Given the description of an element on the screen output the (x, y) to click on. 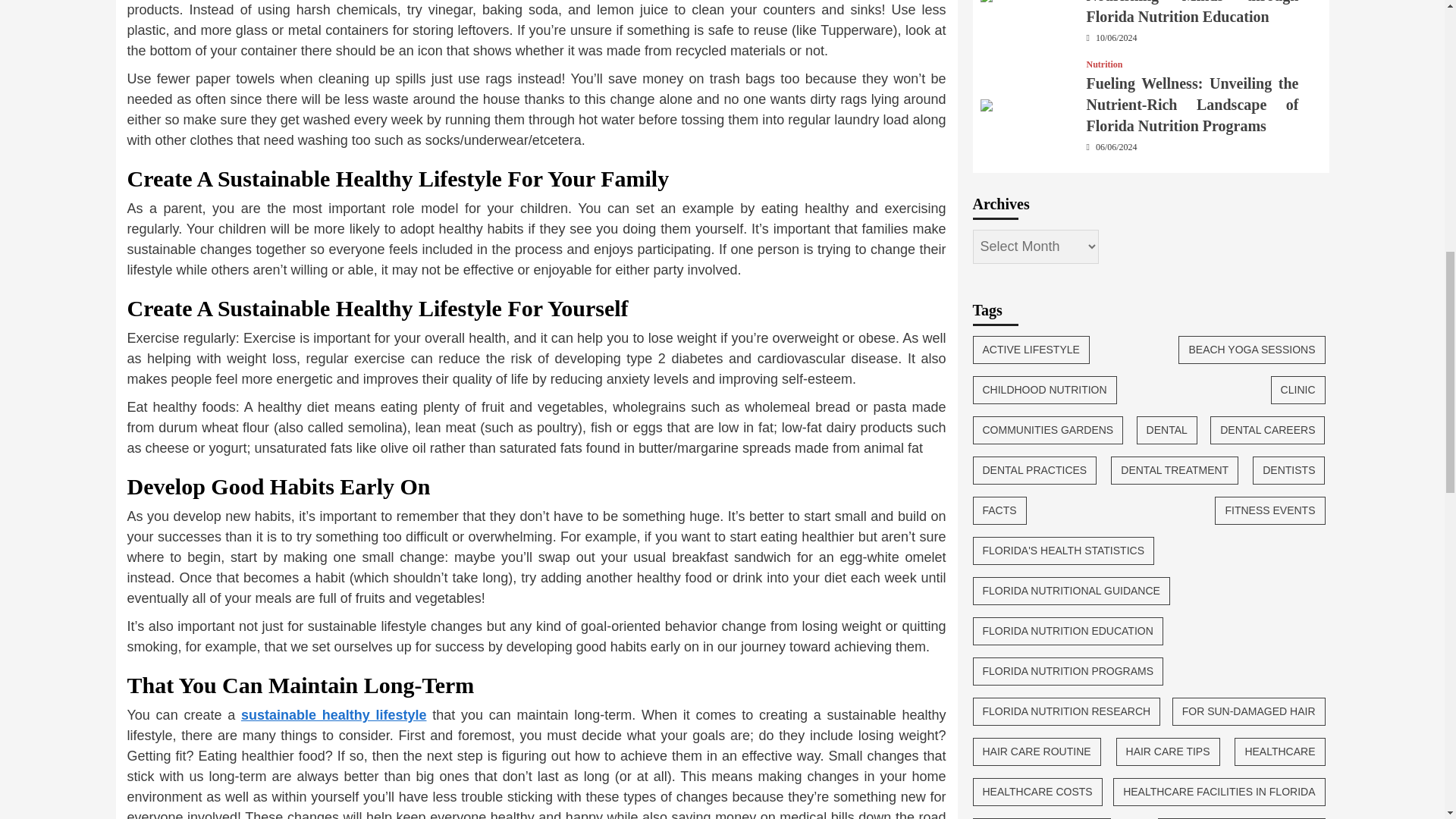
sustainable healthy lifestyle (333, 714)
